Given the description of an element on the screen output the (x, y) to click on. 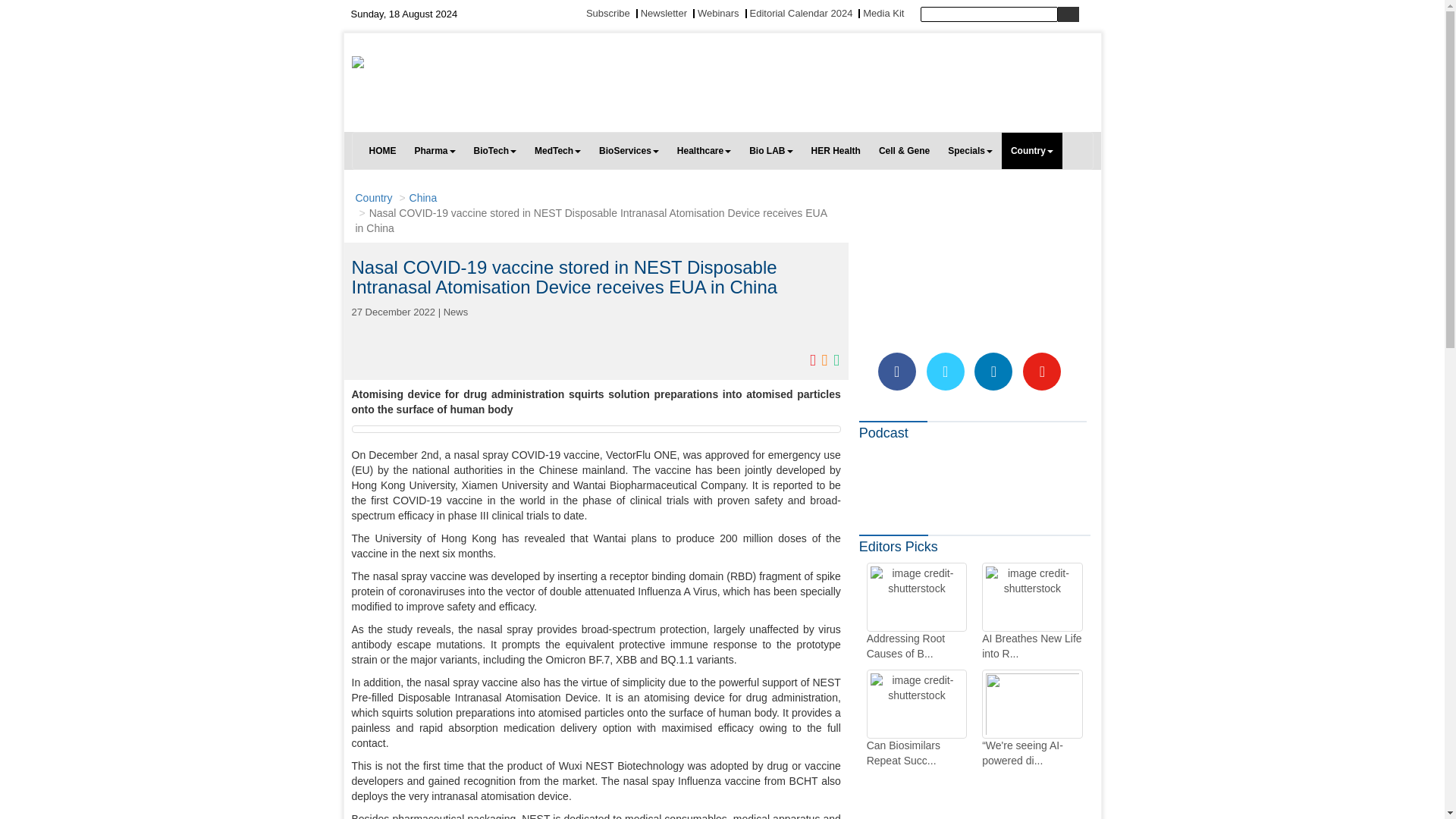
HOME (381, 150)
Healthcare (703, 150)
Facebook (896, 371)
BioServices (628, 150)
Youtube (1042, 371)
Webinars (718, 12)
HER Health (835, 150)
Can Biosimilars Repeat Success of Generics?  (916, 719)
Newsletter (663, 12)
Editorial Calendar 2024 (801, 12)
